Given the description of an element on the screen output the (x, y) to click on. 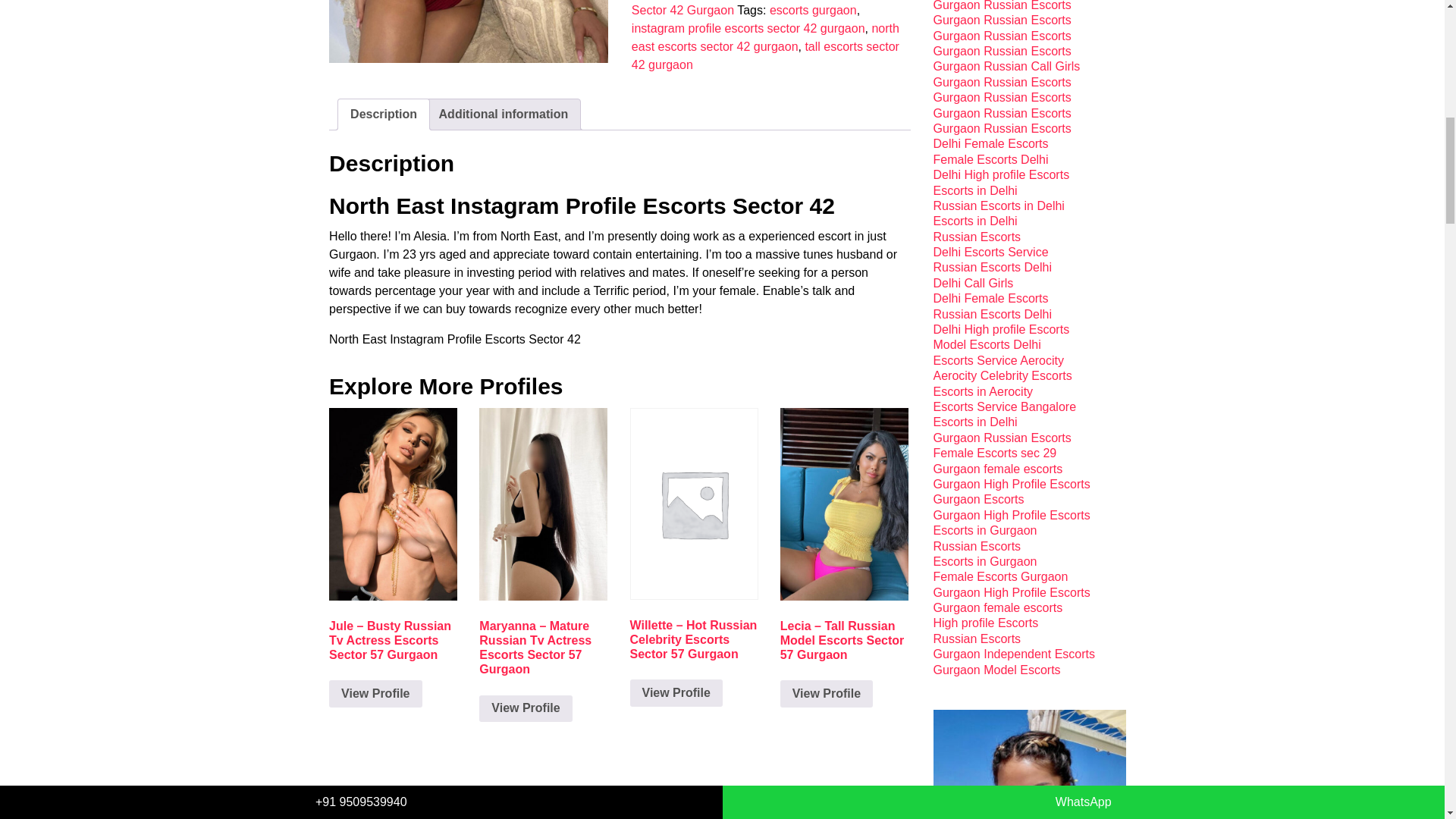
escorts gurgaon (813, 10)
Additional information (504, 114)
tall escorts sector 42 gurgaon (765, 55)
north east escorts sector 42 gurgaon (765, 37)
instagram profile escorts sector 42 gurgaon (747, 28)
Description (383, 114)
Tall Escorts Sector 42 Gurgaon (753, 8)
alesia (468, 31)
